Given the description of an element on the screen output the (x, y) to click on. 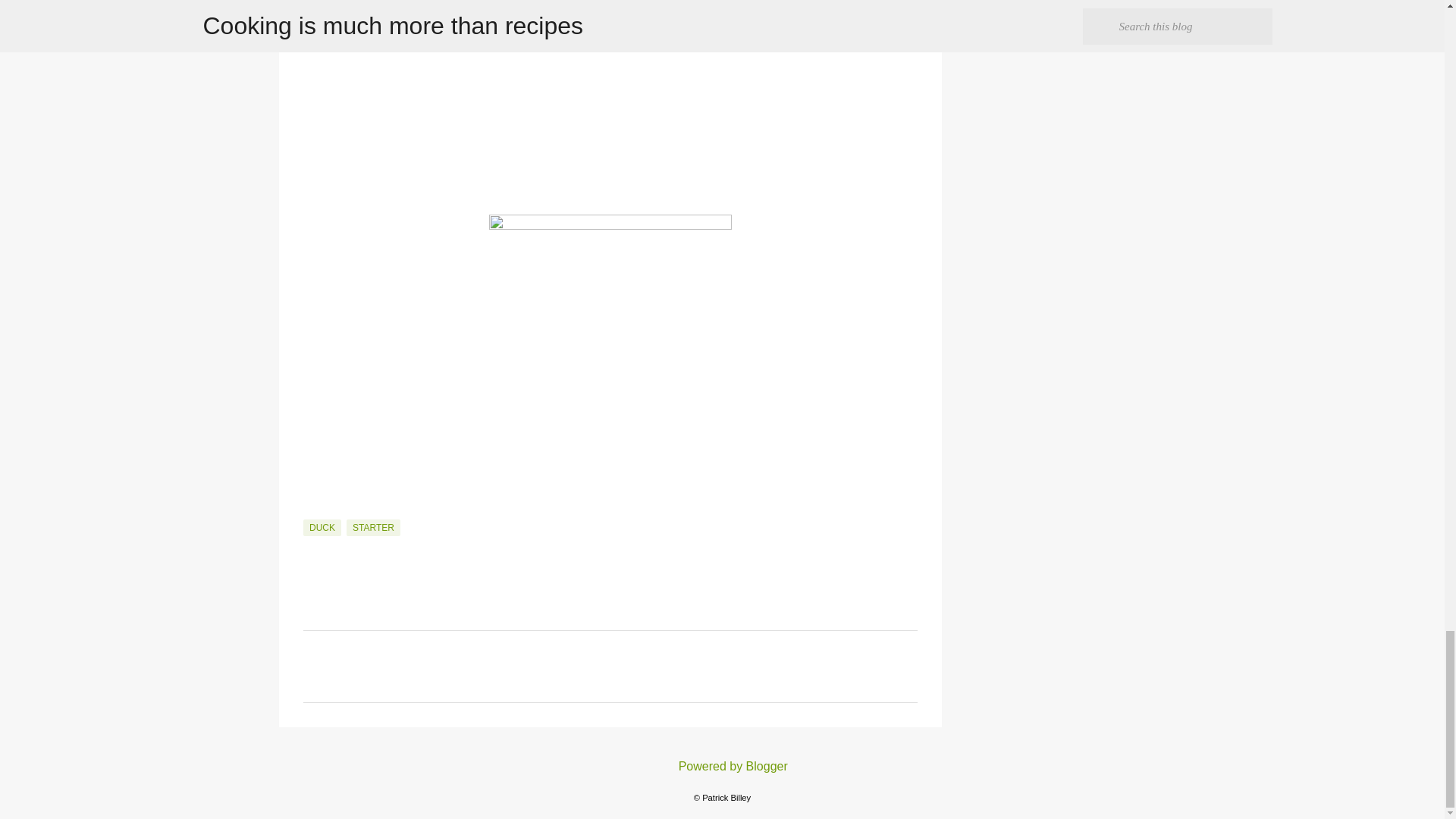
Powered by Blogger (721, 766)
Email Post (311, 510)
DUCK (321, 527)
STARTER (373, 527)
